Given the description of an element on the screen output the (x, y) to click on. 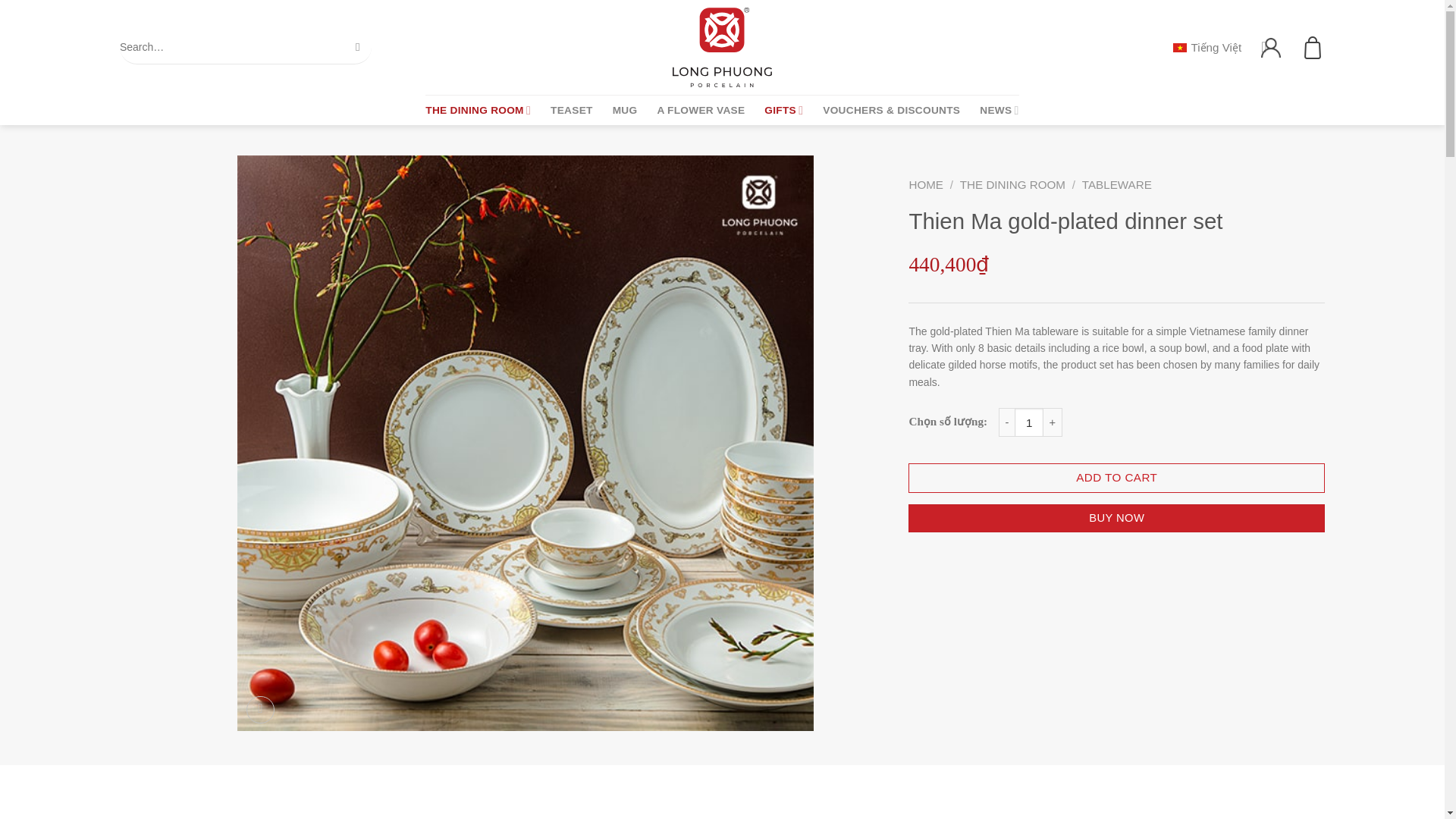
Quantity (1028, 421)
THE DINING ROOM (478, 110)
NEWS (998, 110)
Zoom (260, 709)
Search (357, 46)
GIFTS (783, 110)
1 (1028, 421)
TEASET (571, 110)
